Given the description of an element on the screen output the (x, y) to click on. 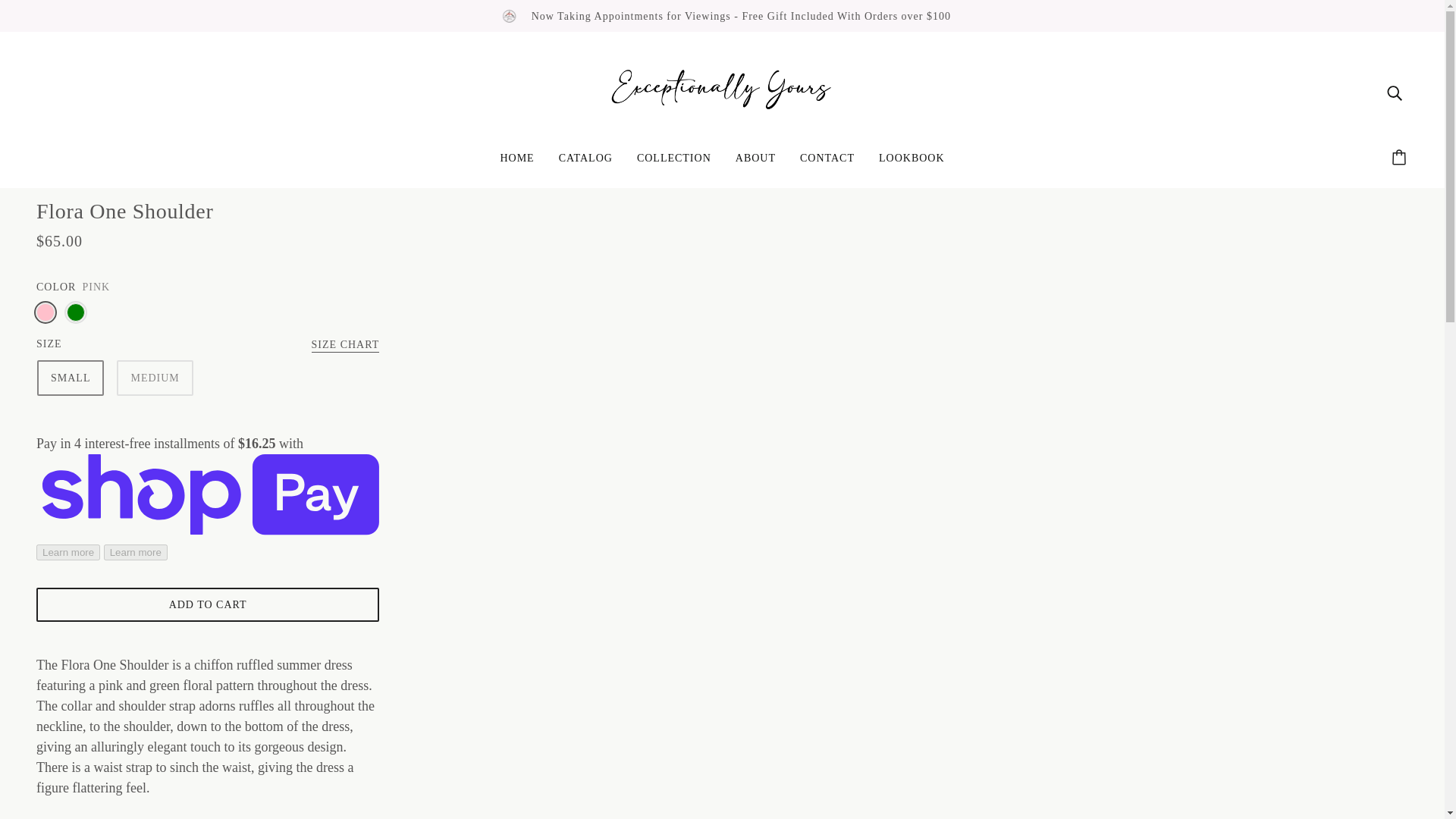
SIZE CHART (345, 345)
Exceptionally Yours (722, 90)
COLLECTION (673, 164)
ADD TO CART (207, 604)
LOOKBOOK (911, 164)
CONTACT (826, 164)
HOME (516, 164)
ABOUT (755, 164)
CATALOG (585, 164)
